Given the description of an element on the screen output the (x, y) to click on. 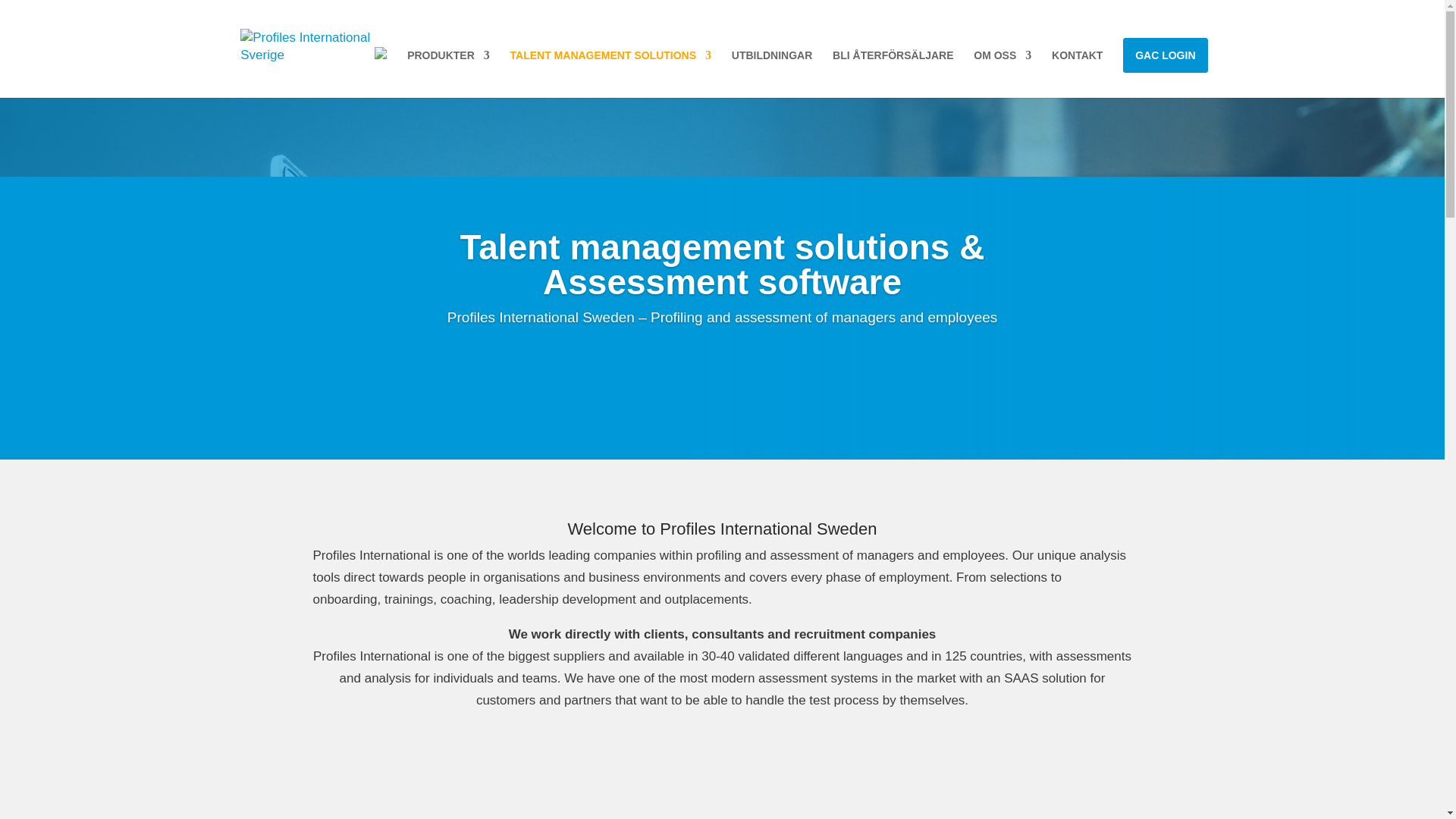
KONTAKT (1076, 60)
UTBILDNINGAR (772, 60)
OM OSS (1002, 60)
GAC LOGIN (1164, 54)
TALENT MANAGEMENT SOLUTIONS (611, 60)
PRODUKTER (448, 60)
